Given the description of an element on the screen output the (x, y) to click on. 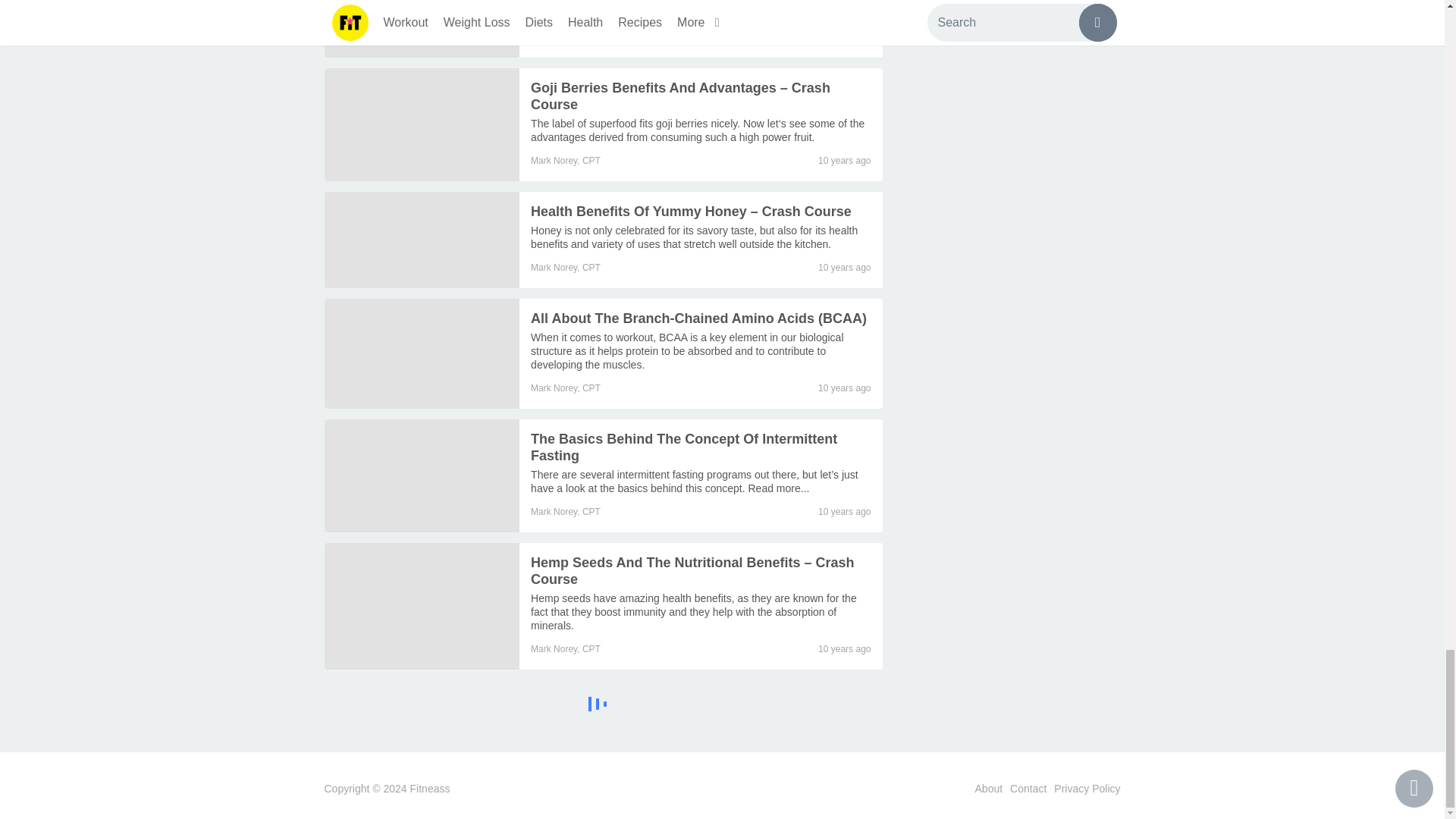
The Science Behind Burning Your Belly Fat (421, 28)
Searching for more related posts... (603, 706)
